Given the description of an element on the screen output the (x, y) to click on. 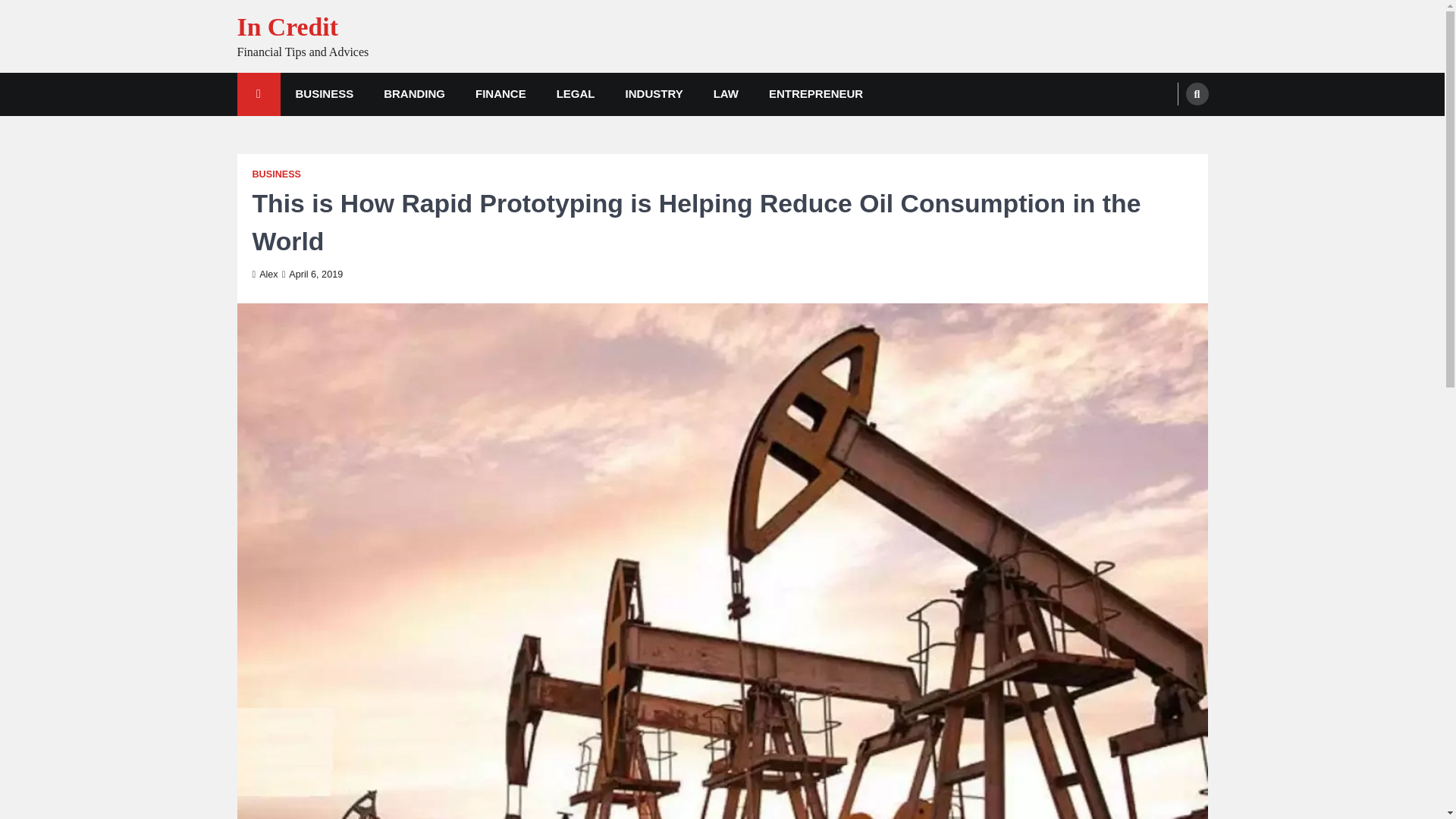
Alex (264, 274)
Search (1197, 93)
LEGAL (575, 94)
FINANCE (500, 94)
LAW (726, 94)
ENTREPRENEUR (815, 94)
April 6, 2019 (312, 274)
BUSINESS (325, 94)
BUSINESS (276, 174)
BRANDING (414, 94)
